Given the description of an element on the screen output the (x, y) to click on. 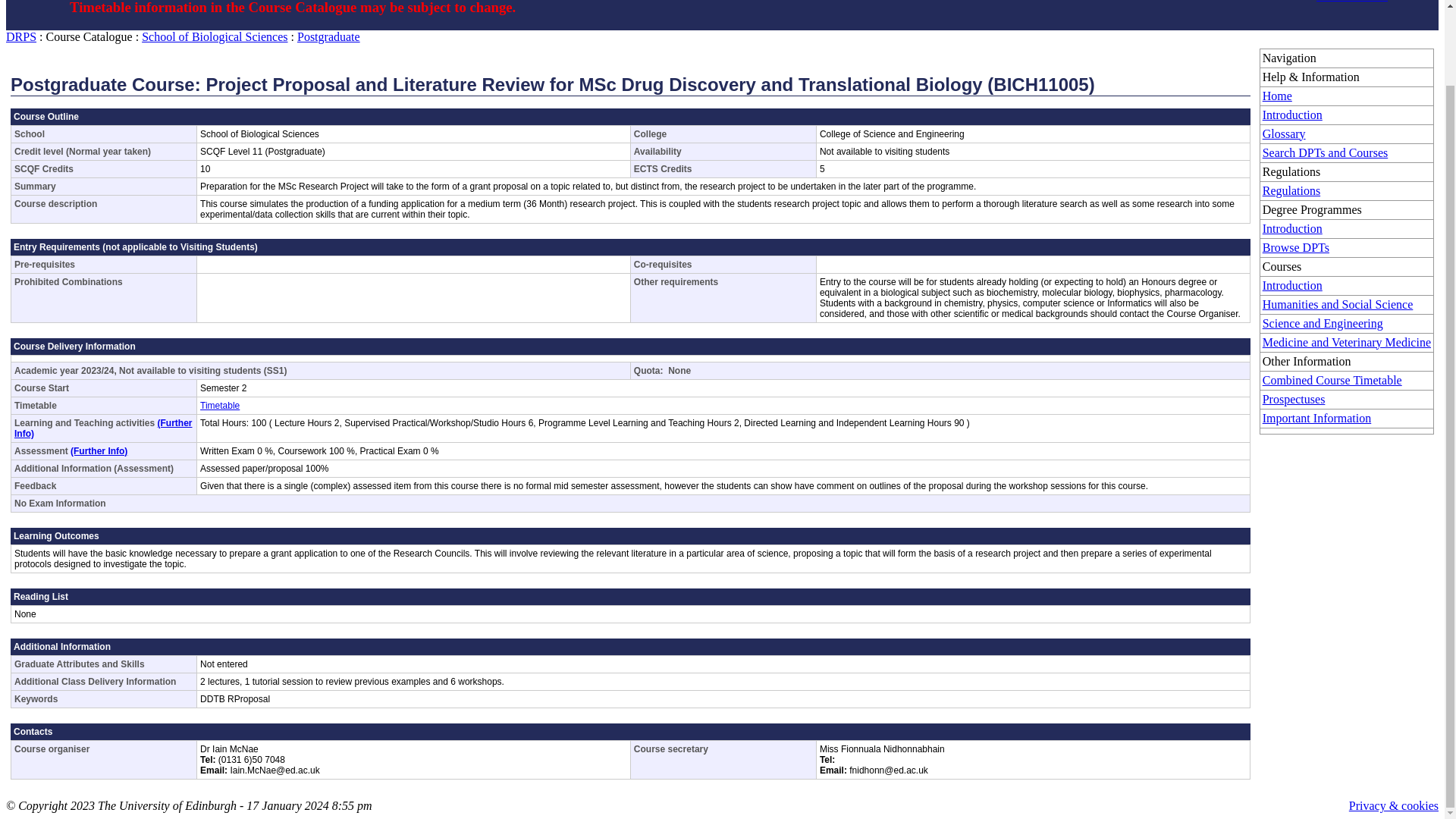
Medicine and Veterinary Medicine (1346, 341)
Regulations (1291, 190)
Prospectuses (1293, 399)
Combined Course Timetable (1332, 379)
Introduction (1292, 228)
Introduction (1292, 285)
Search DPTs and Courses (1325, 152)
Browse DPTs (1295, 246)
Prospectuses (1293, 399)
Important Information (1316, 418)
